Given the description of an element on the screen output the (x, y) to click on. 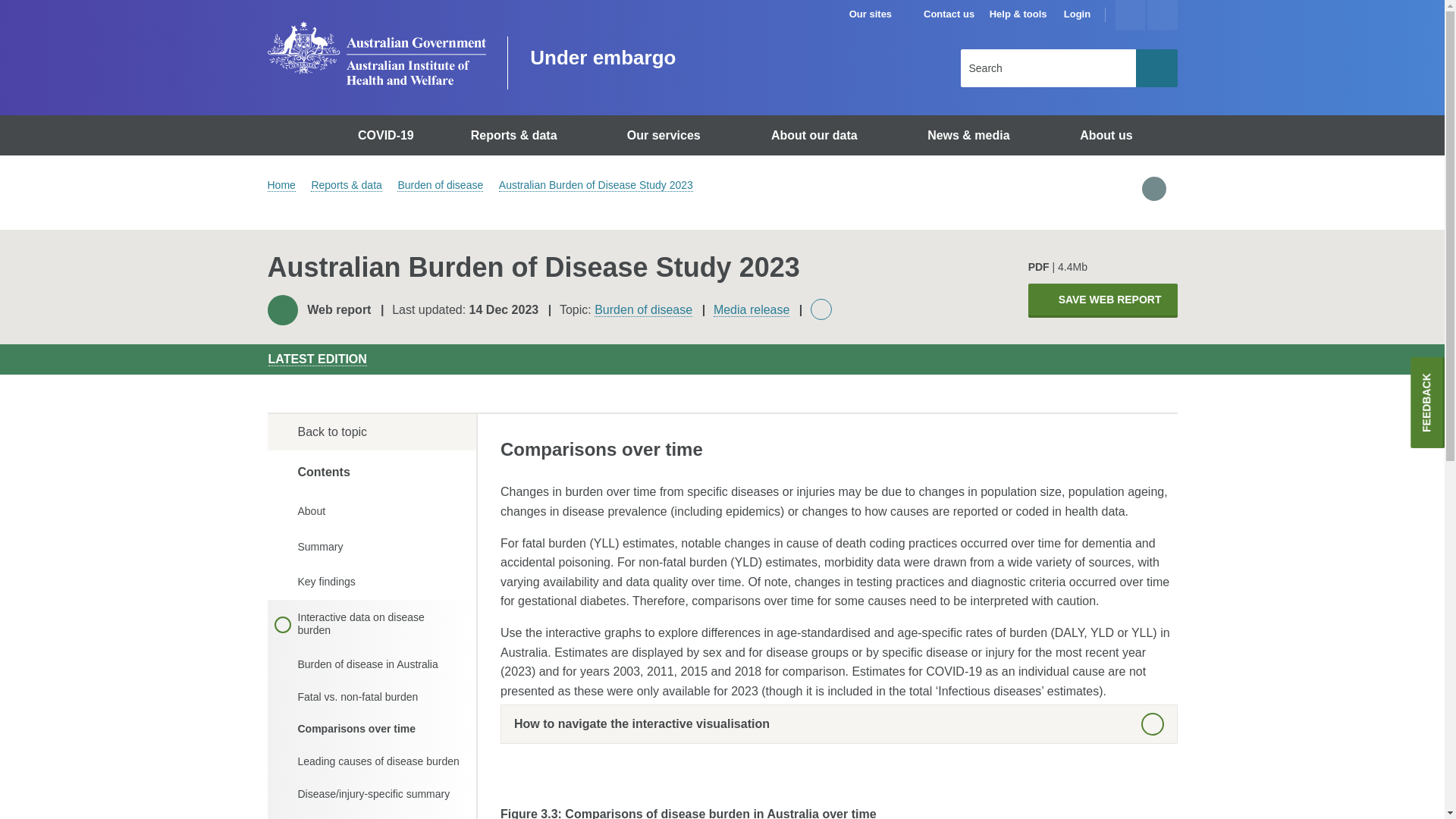
Login (1077, 14)
Our sites (877, 14)
Decrease text size (1162, 15)
Australian Institute of Health and Welfare (375, 53)
Increase text size (1130, 15)
COVID-19 (388, 135)
Contact us (948, 14)
Search (1156, 67)
